Given the description of an element on the screen output the (x, y) to click on. 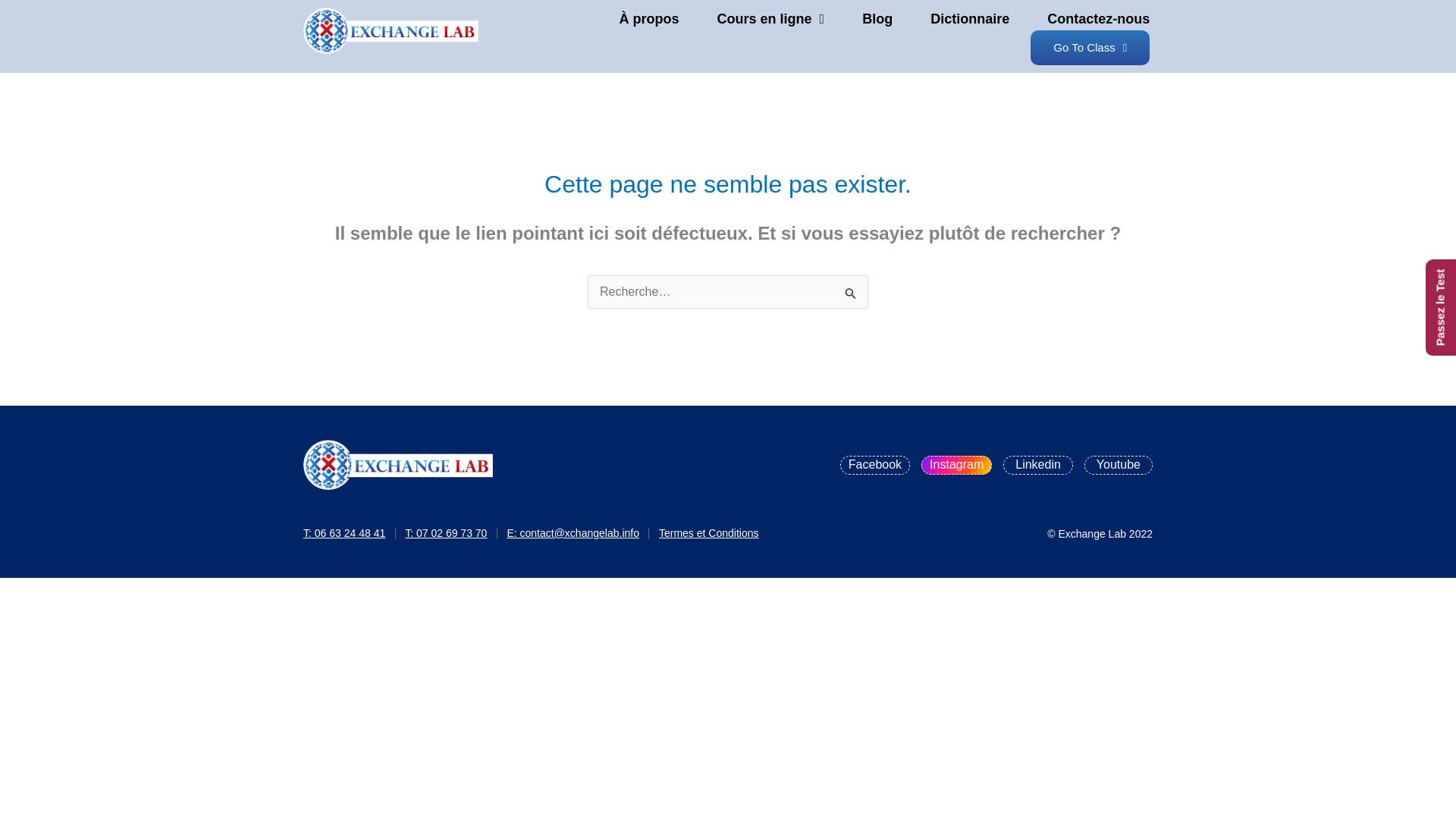
Youtube (1118, 465)
T: 06 63 24 48 41 (343, 533)
T: 07 02 69 73 70 (445, 533)
Go To Class (1090, 47)
Linkedin (1038, 465)
Contactez-nous (1098, 18)
Blog (876, 18)
Termes et Conditions (708, 533)
Dictionnaire (969, 18)
Facebook (875, 465)
